Given the description of an element on the screen output the (x, y) to click on. 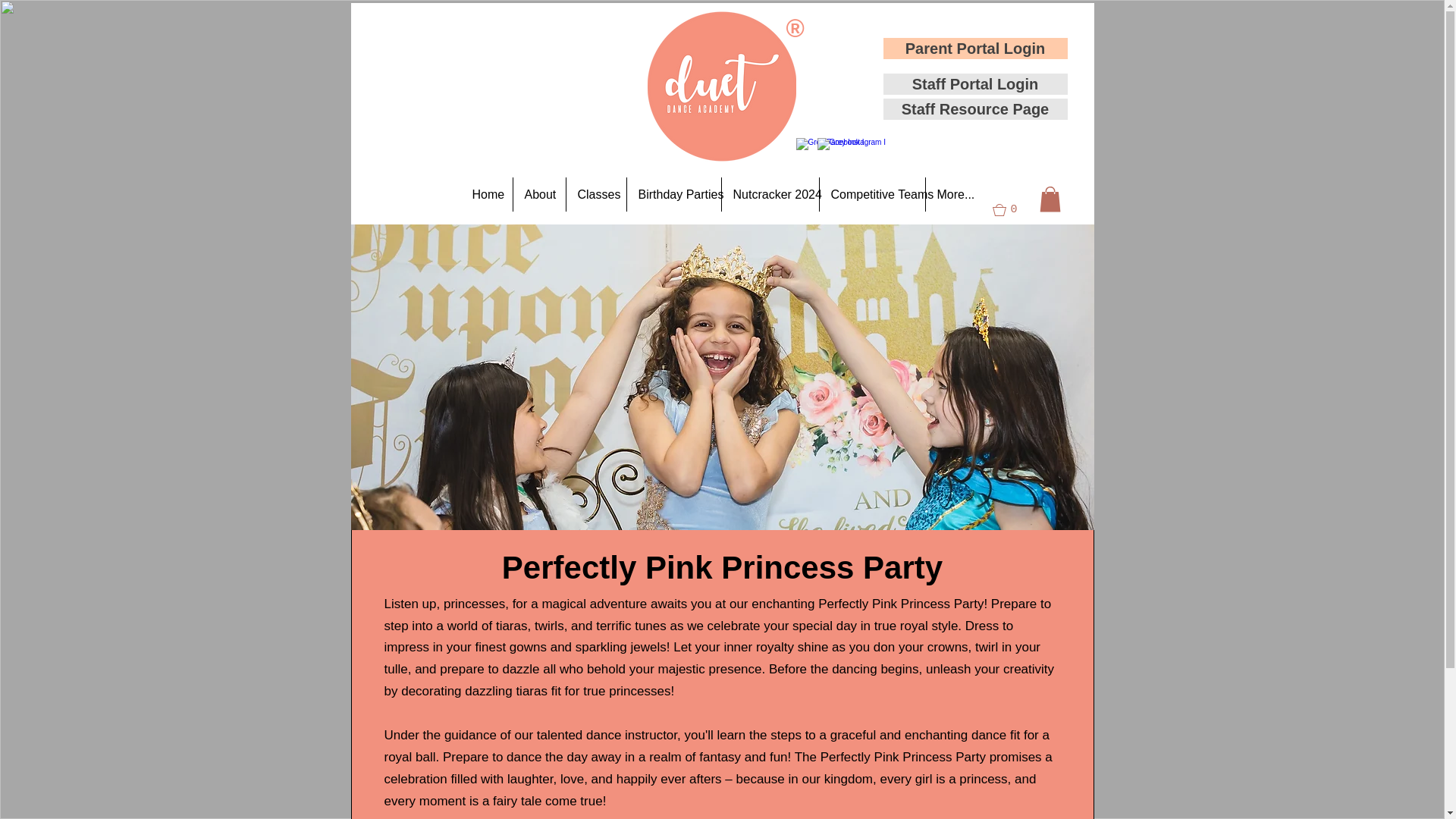
About (538, 194)
Birthday Parties (673, 194)
Staff Resource Page (974, 108)
Staff Portal Login (974, 84)
Nutcracker 2024 (770, 194)
Classes (596, 194)
Competitive Teams (871, 194)
Parent Portal Login (974, 47)
Home (486, 194)
